Given the description of an element on the screen output the (x, y) to click on. 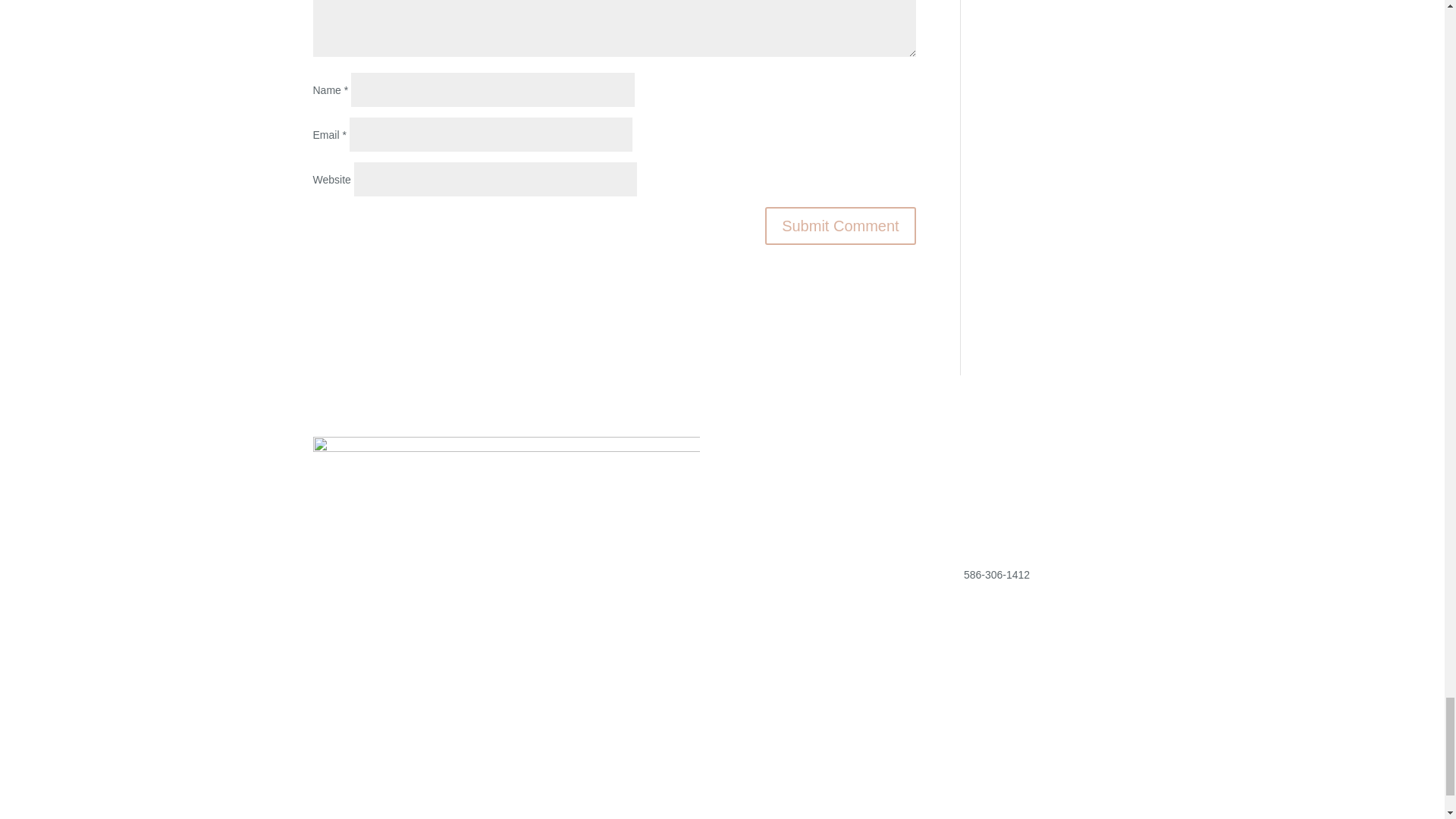
Portfolio (809, 494)
Submit Comment (840, 225)
Home (758, 494)
Follow on Instagram (1002, 694)
Submit Comment (840, 225)
Follow on Facebook (972, 694)
